Given the description of an element on the screen output the (x, y) to click on. 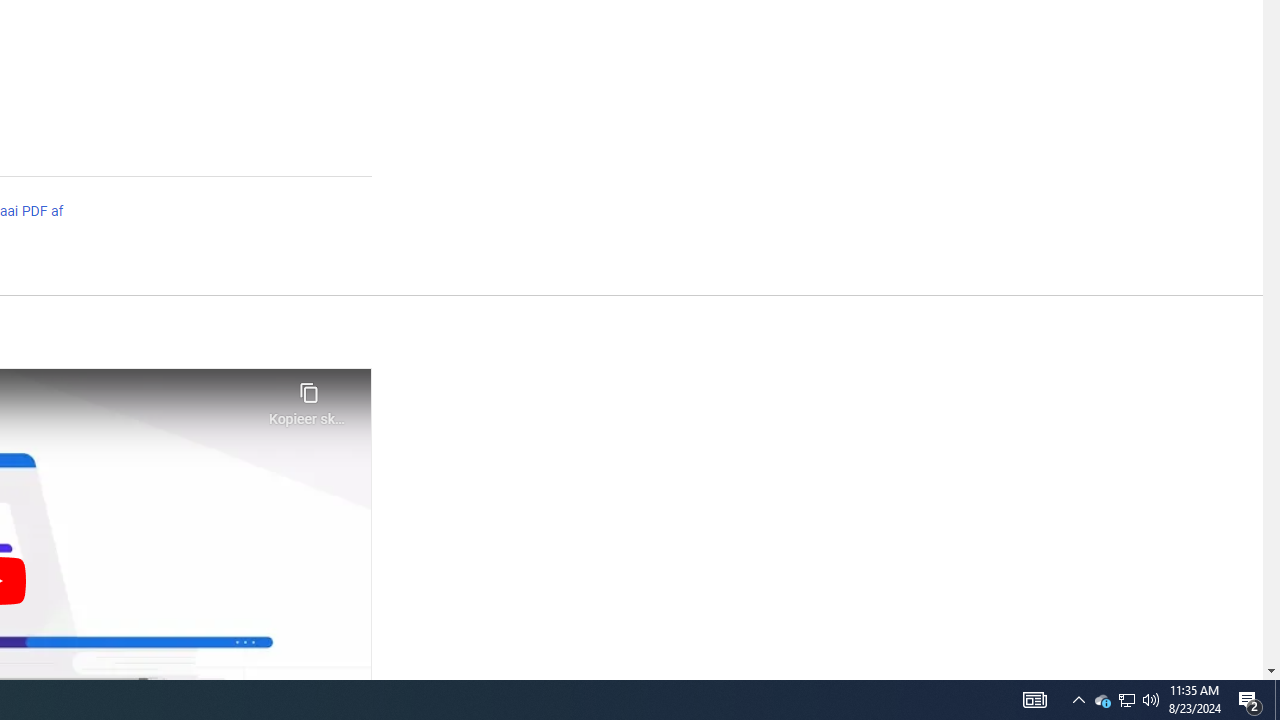
Kopieer skakel (308, 398)
